Given the description of an element on the screen output the (x, y) to click on. 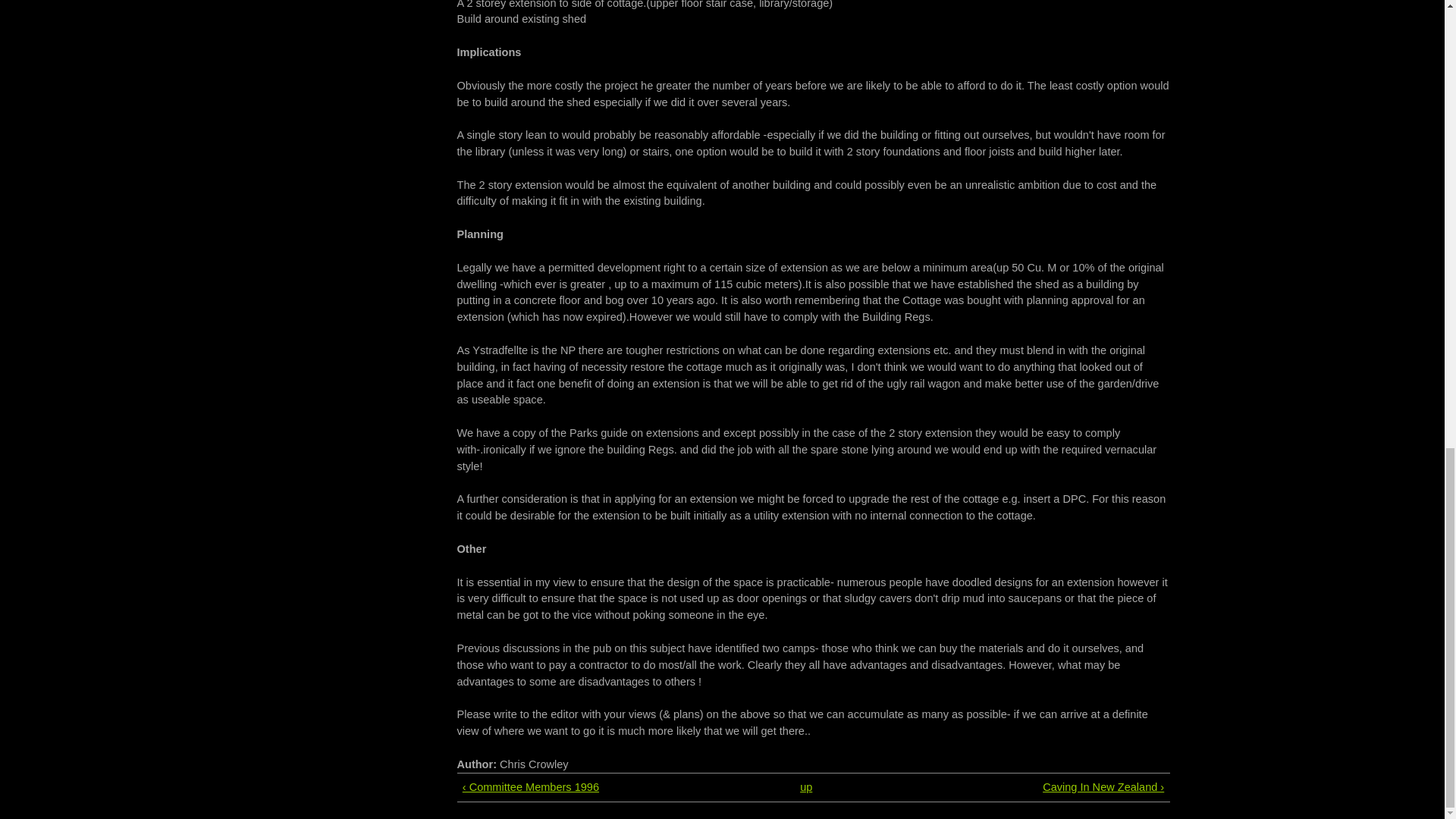
Go to parent page (806, 787)
Go to previous page (610, 787)
Go to next page (1016, 787)
up (806, 787)
